Given the description of an element on the screen output the (x, y) to click on. 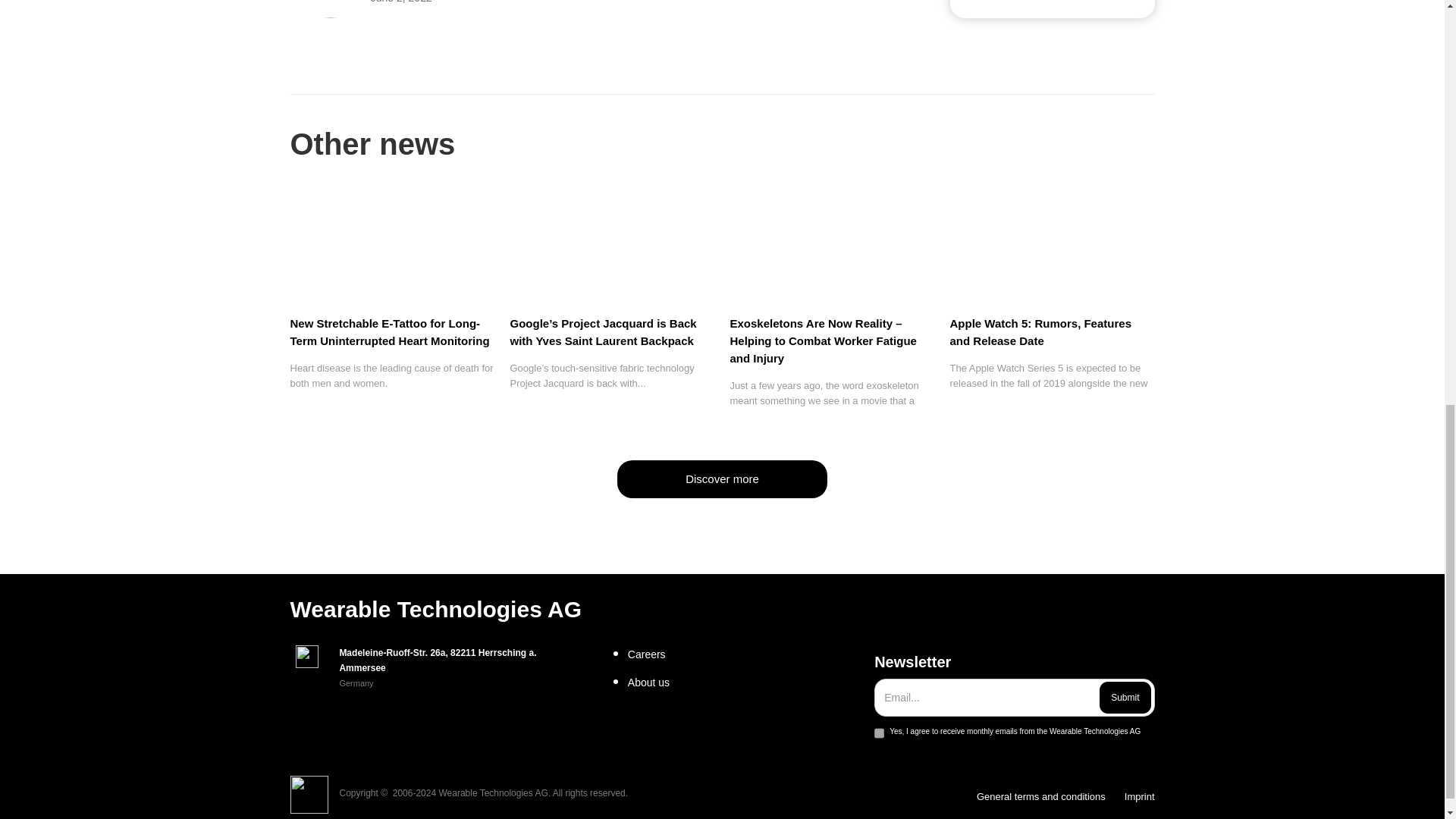
About us (744, 682)
Submit (1124, 697)
Imprint (1139, 796)
Careers (744, 654)
General terms and conditions (1040, 796)
Submit (1124, 697)
Discover more (722, 478)
